Given the description of an element on the screen output the (x, y) to click on. 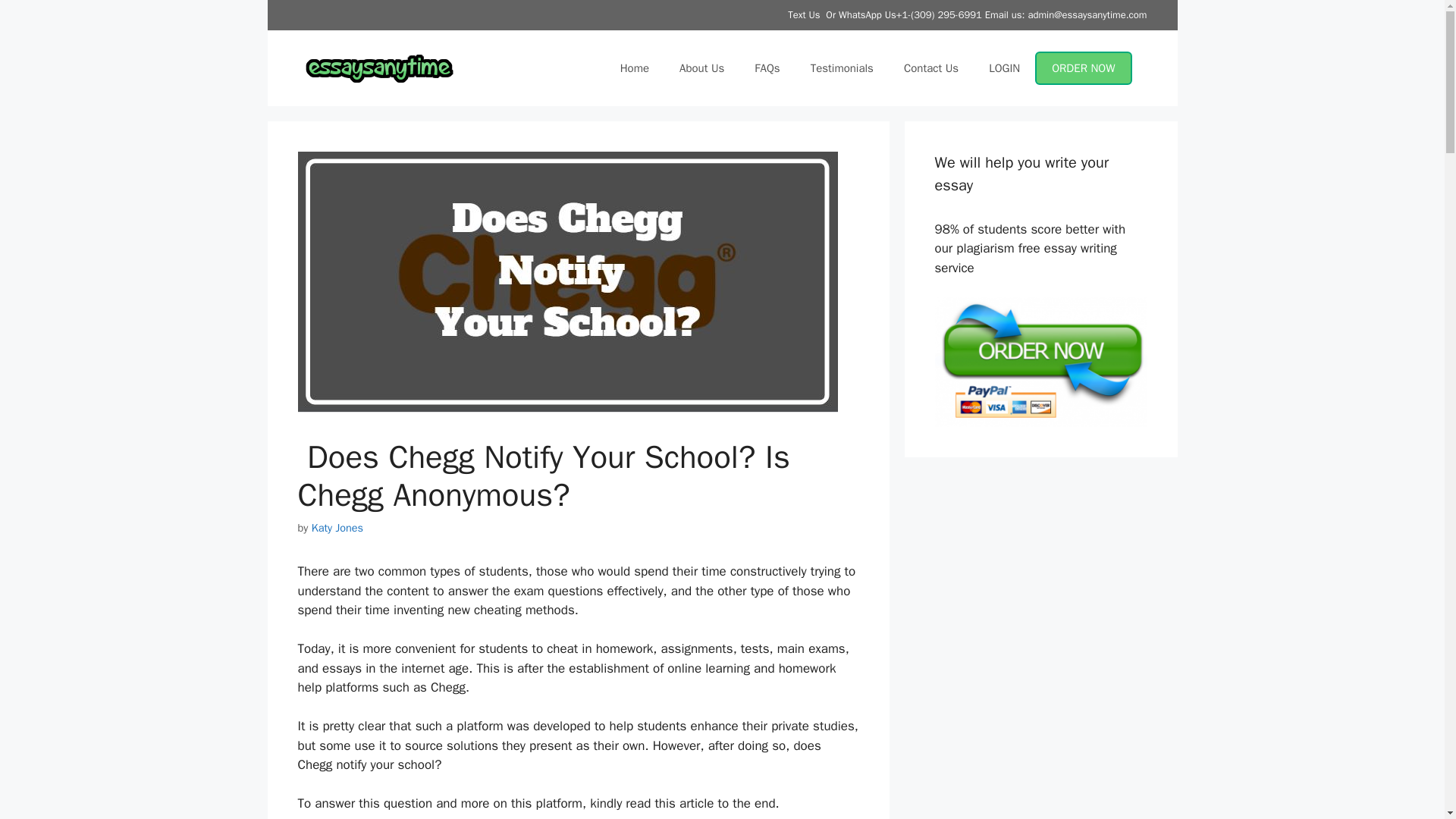
LOGIN (1004, 67)
FAQs (766, 67)
Testimonials (841, 67)
View all posts by Katy Jones (336, 526)
ORDER NOW (1083, 68)
About Us (701, 67)
Contact Us (931, 67)
Katy Jones (336, 526)
Home (634, 67)
